Given the description of an element on the screen output the (x, y) to click on. 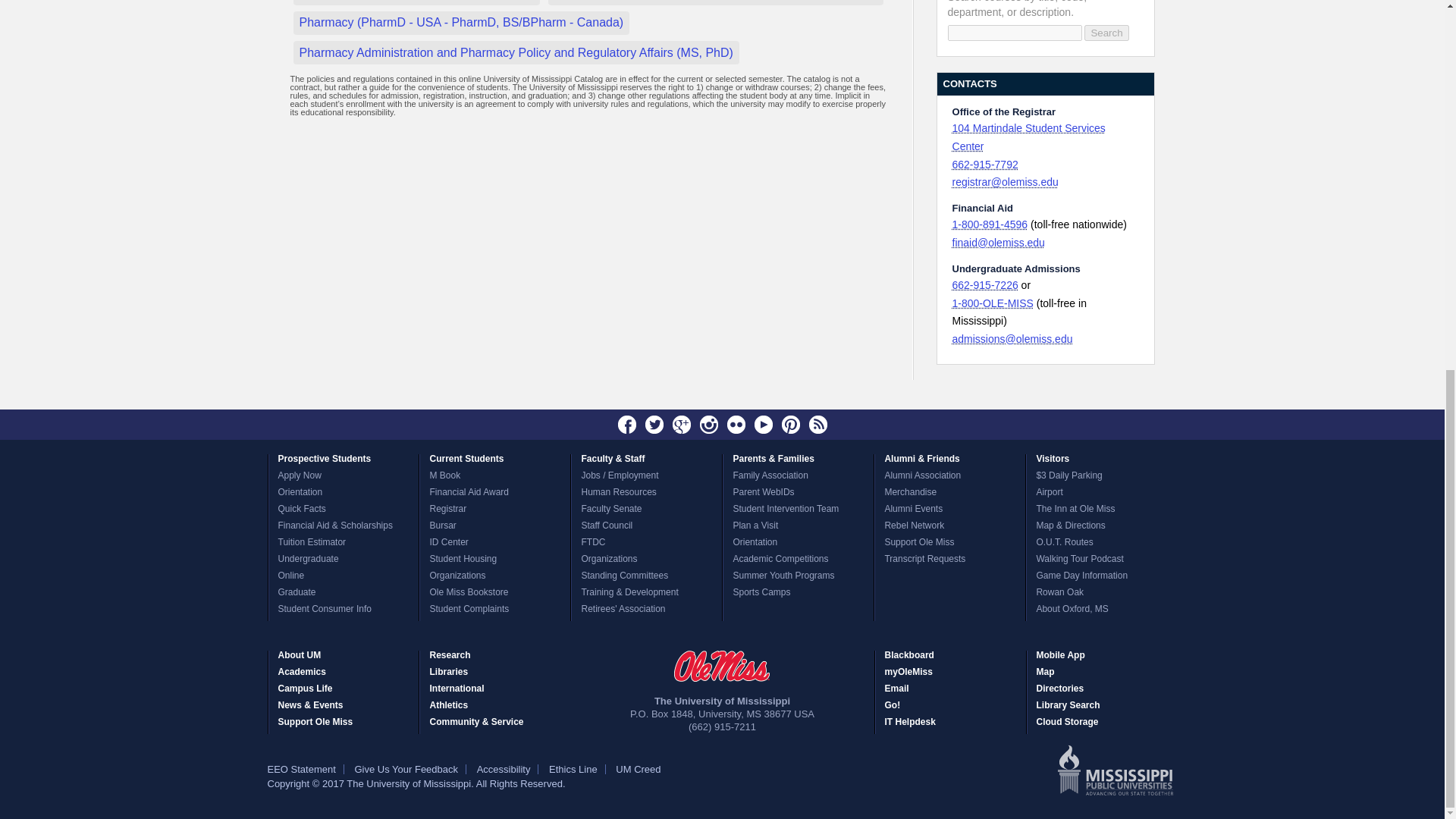
Pinterest (790, 424)
Twitter (654, 424)
Flickr (735, 424)
News Feed (818, 424)
Instagram (708, 424)
Search (1106, 32)
Youtube (763, 424)
Facebook (627, 424)
